Given the description of an element on the screen output the (x, y) to click on. 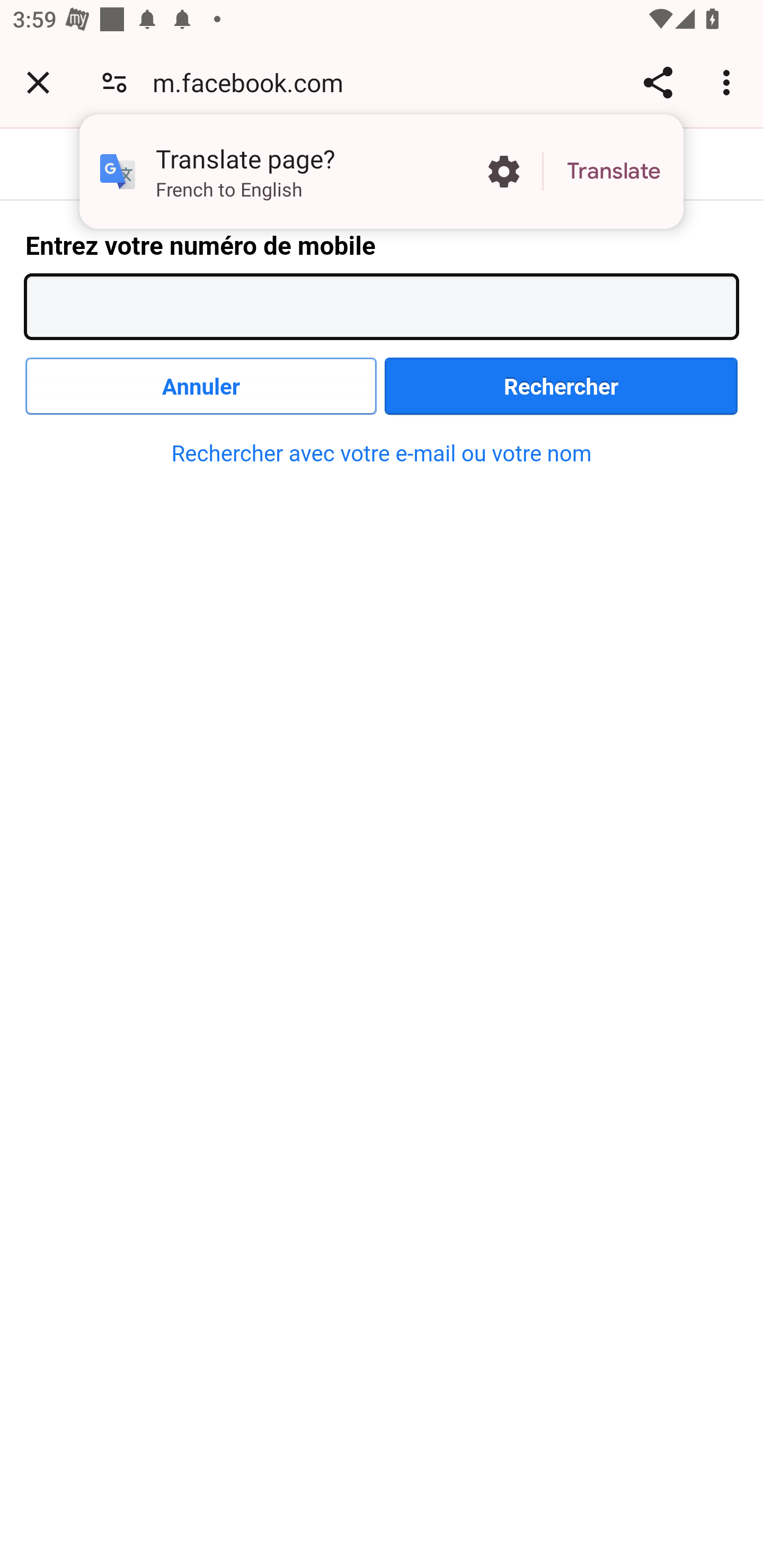
Close tab (38, 82)
Share (657, 82)
Customize and control Google Chrome (729, 82)
Connection is secure (114, 81)
m.facebook.com (254, 81)
Translate (613, 171)
More options in the Translate page? (503, 171)
Annuler (200, 386)
Rechercher (560, 386)
Rechercher avec votre e-mail ou votre nom (381, 453)
